Given the description of an element on the screen output the (x, y) to click on. 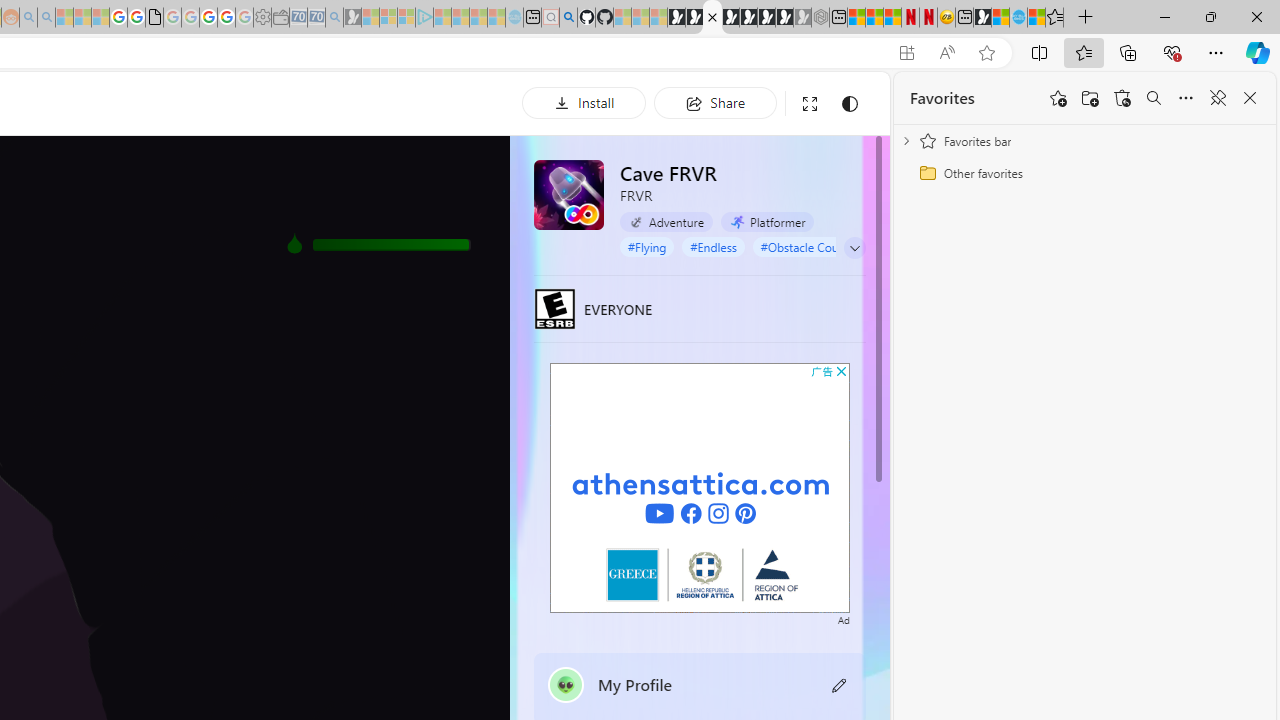
github - Search (568, 17)
